Given the description of an element on the screen output the (x, y) to click on. 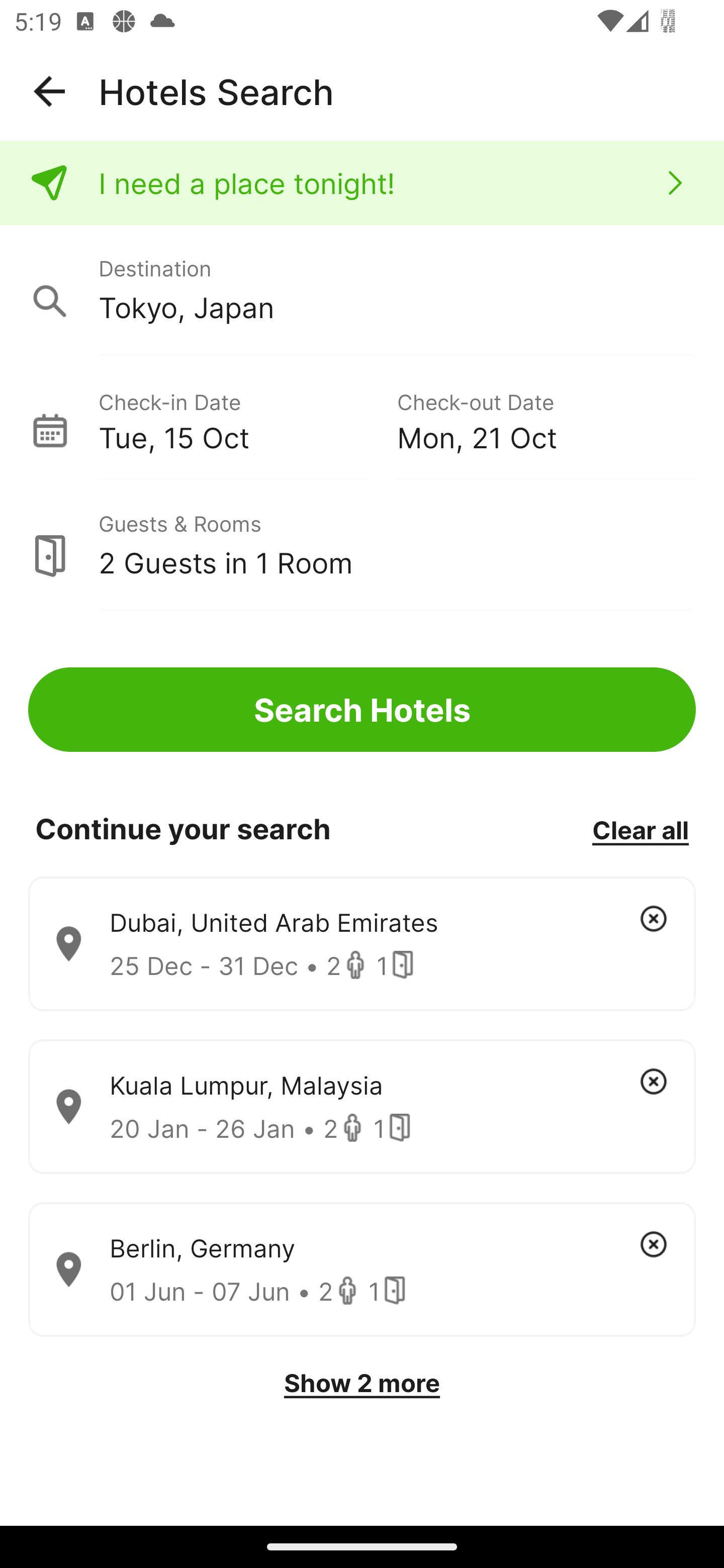
I need a place tonight! (362, 183)
Destination Tokyo, Japan (362, 290)
Check-in Date Tue, 15 Oct (247, 418)
Check-out Date Mon, 21 Oct (546, 418)
Guests & Rooms 2 Guests in 1 Room (362, 545)
Search Hotels (361, 709)
Clear all (640, 829)
Kuala Lumpur, Malaysia 20 Jan - 26 Jan • 2  1  (361, 1106)
Berlin, Germany 01 Jun - 07 Jun • 2  1  (361, 1269)
Show 2 more (362, 1382)
